Given the description of an element on the screen output the (x, y) to click on. 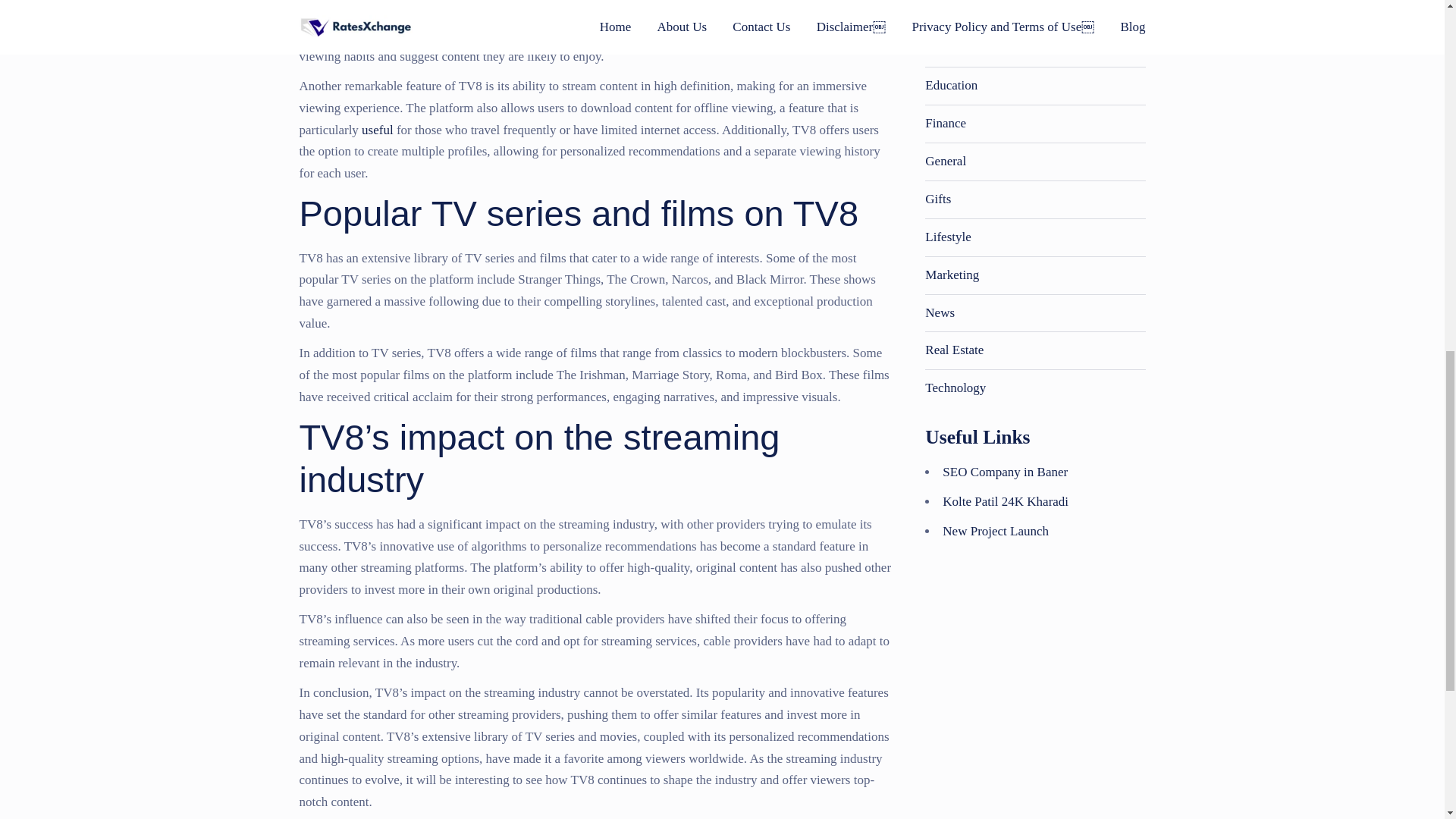
Business (947, 47)
Finance (945, 123)
Kolte Patil 24K Kharadi (1005, 501)
Technology (954, 387)
Marketing (951, 274)
Real Estate (954, 350)
Education (950, 84)
useful (377, 129)
Gifts (937, 198)
Lifestyle (947, 237)
SEO Company in Baner (1004, 472)
General (945, 160)
News (939, 312)
